Given the description of an element on the screen output the (x, y) to click on. 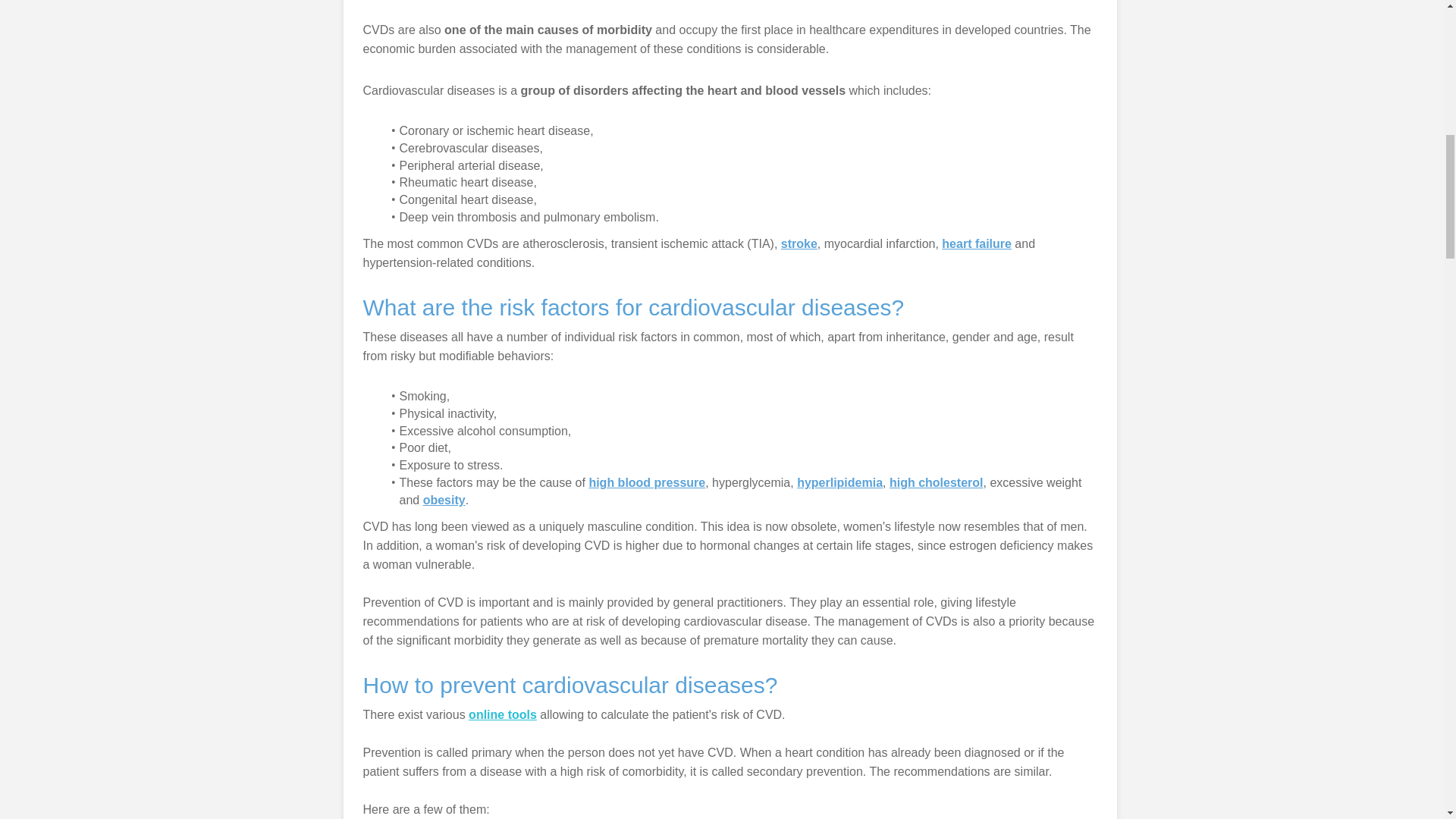
online tools (502, 714)
stroke (798, 243)
high cholesterol (936, 481)
heart failure (976, 243)
hyperlipidemia (839, 481)
high blood pressure (646, 481)
obesity (444, 499)
